Given the description of an element on the screen output the (x, y) to click on. 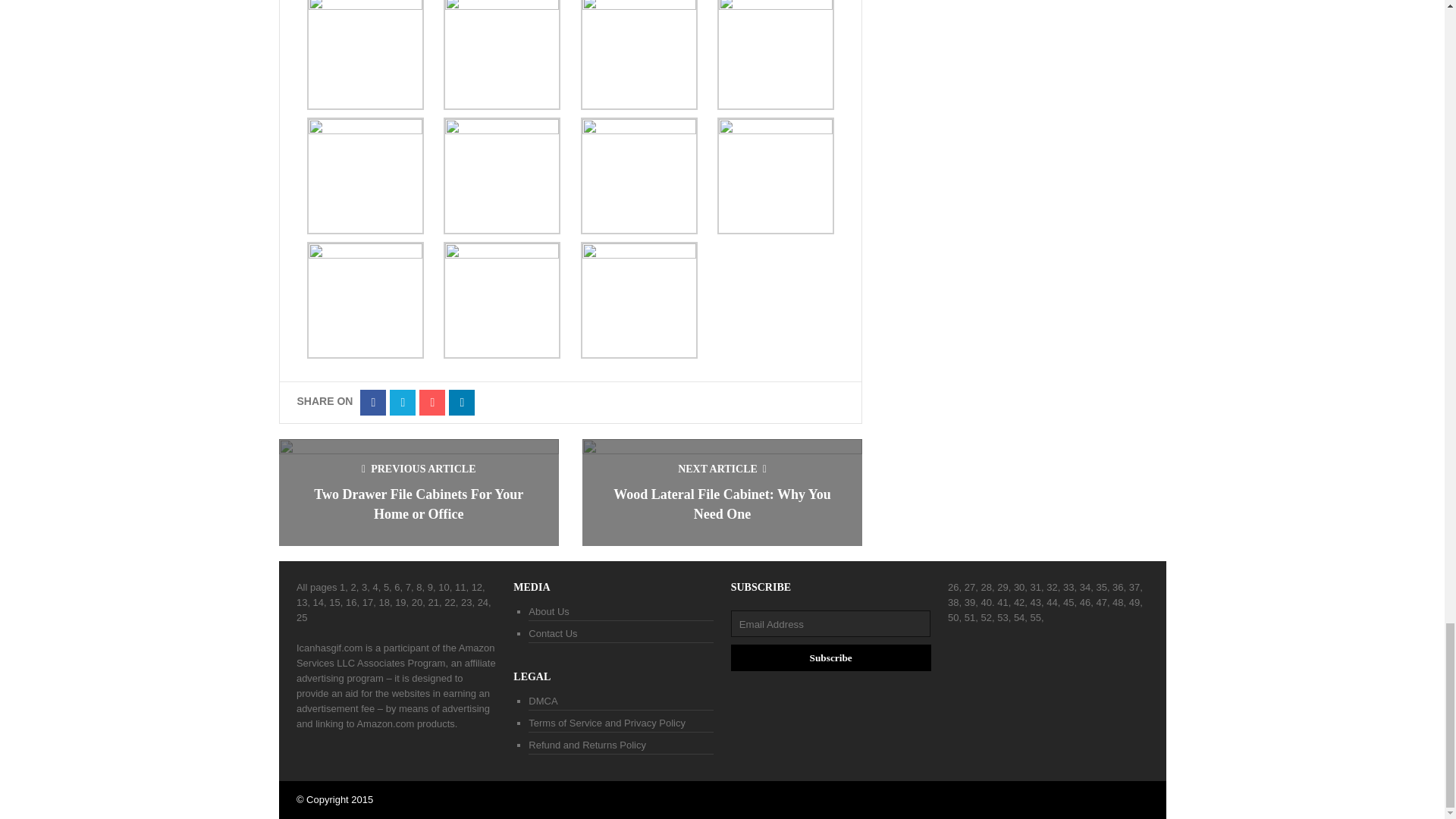
Subscribe (830, 657)
